Given the description of an element on the screen output the (x, y) to click on. 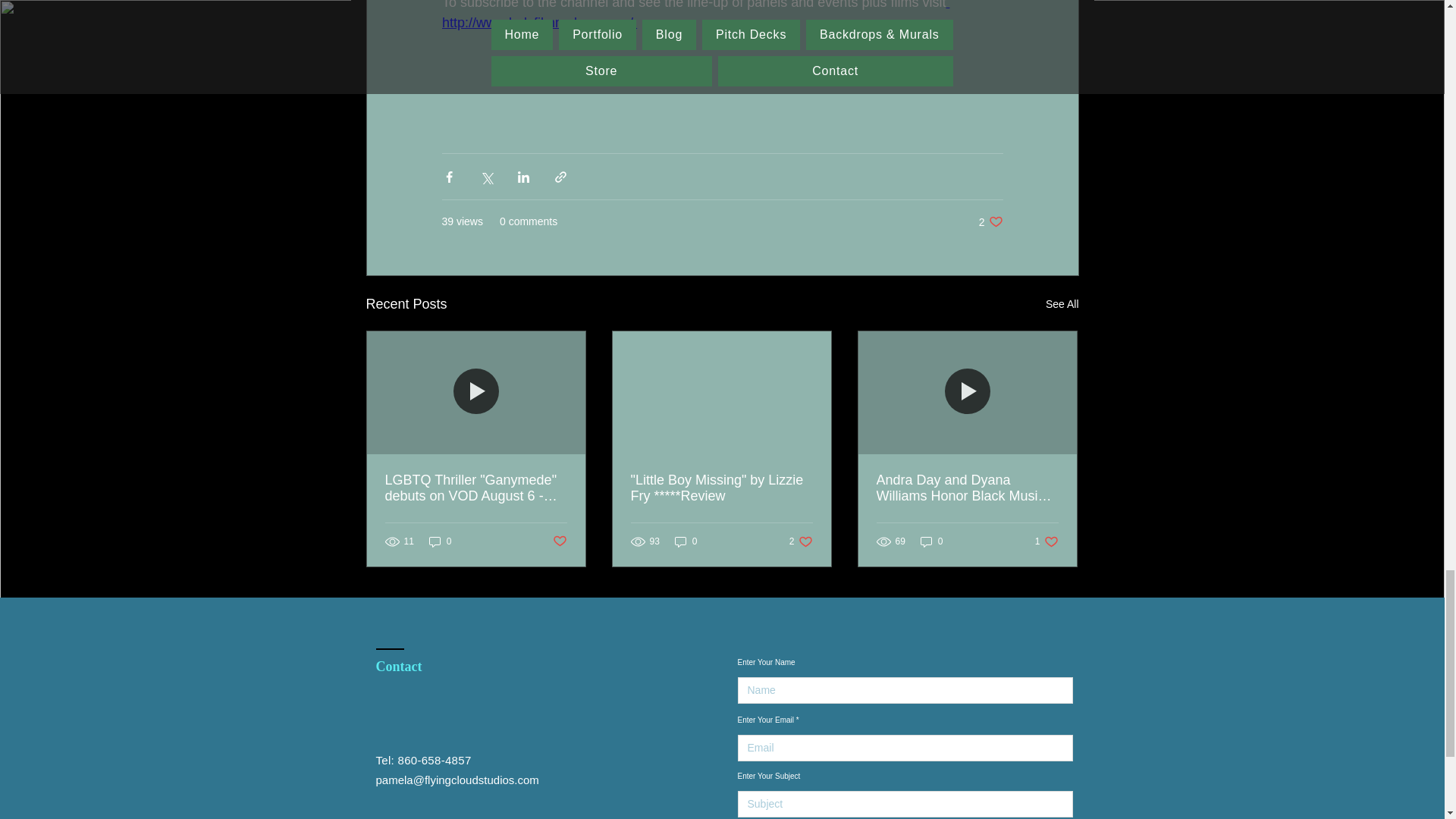
See All (1061, 304)
Post not marked as liked (1046, 541)
0 (800, 541)
0 (558, 541)
0 (990, 221)
